Given the description of an element on the screen output the (x, y) to click on. 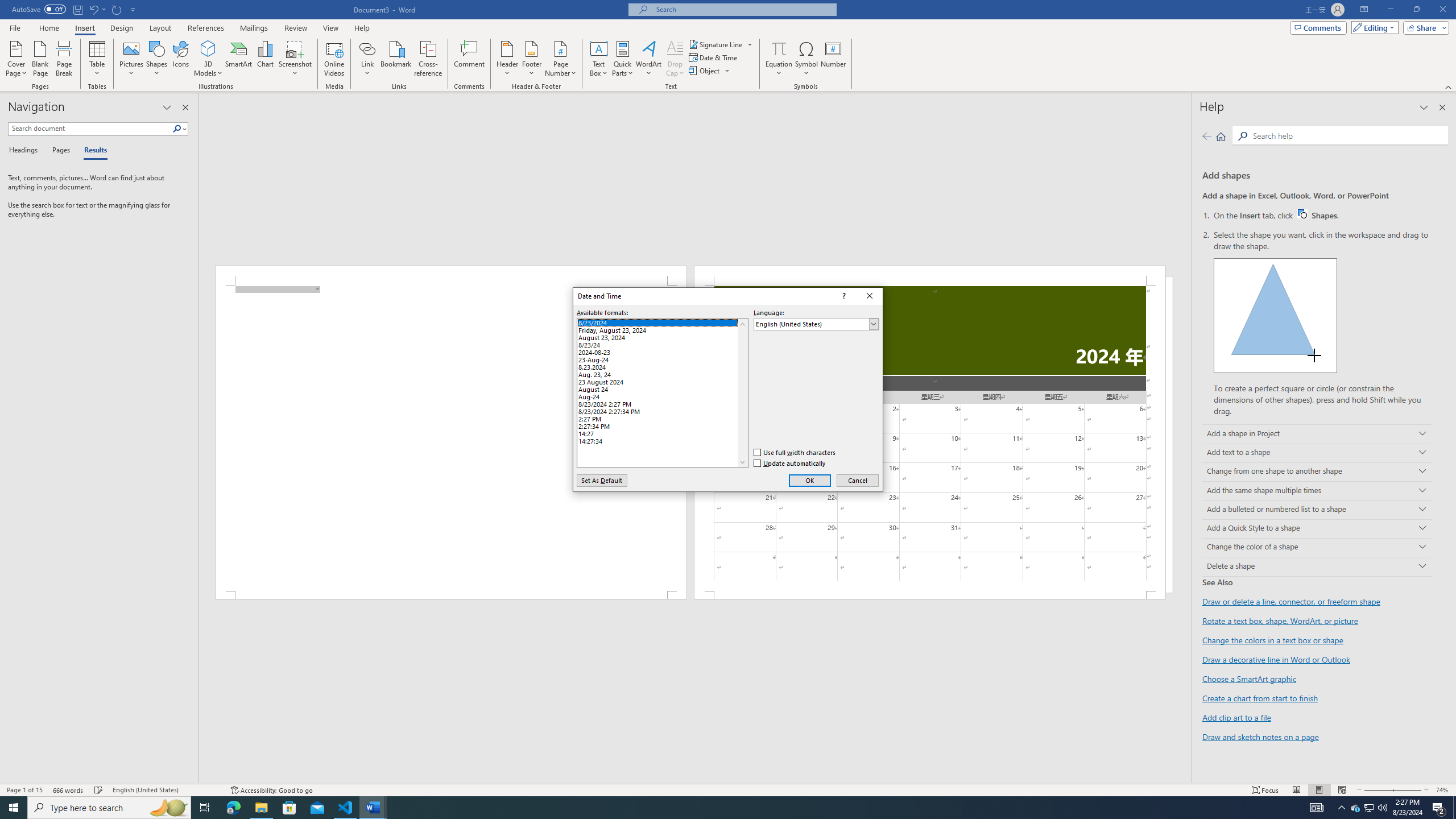
Cover Page (16, 58)
Notification Chevron (1341, 807)
Word Count 666 words (68, 790)
Drawing a shape (1275, 315)
Page Number Page 1 of 15 (24, 790)
Microsoft Edge (233, 807)
8/23/2024 (662, 321)
Word W32 Shapes button icon (1302, 213)
8/23/2024 2:27 PM (662, 403)
Date & Time... (714, 56)
